Given the description of an element on the screen output the (x, y) to click on. 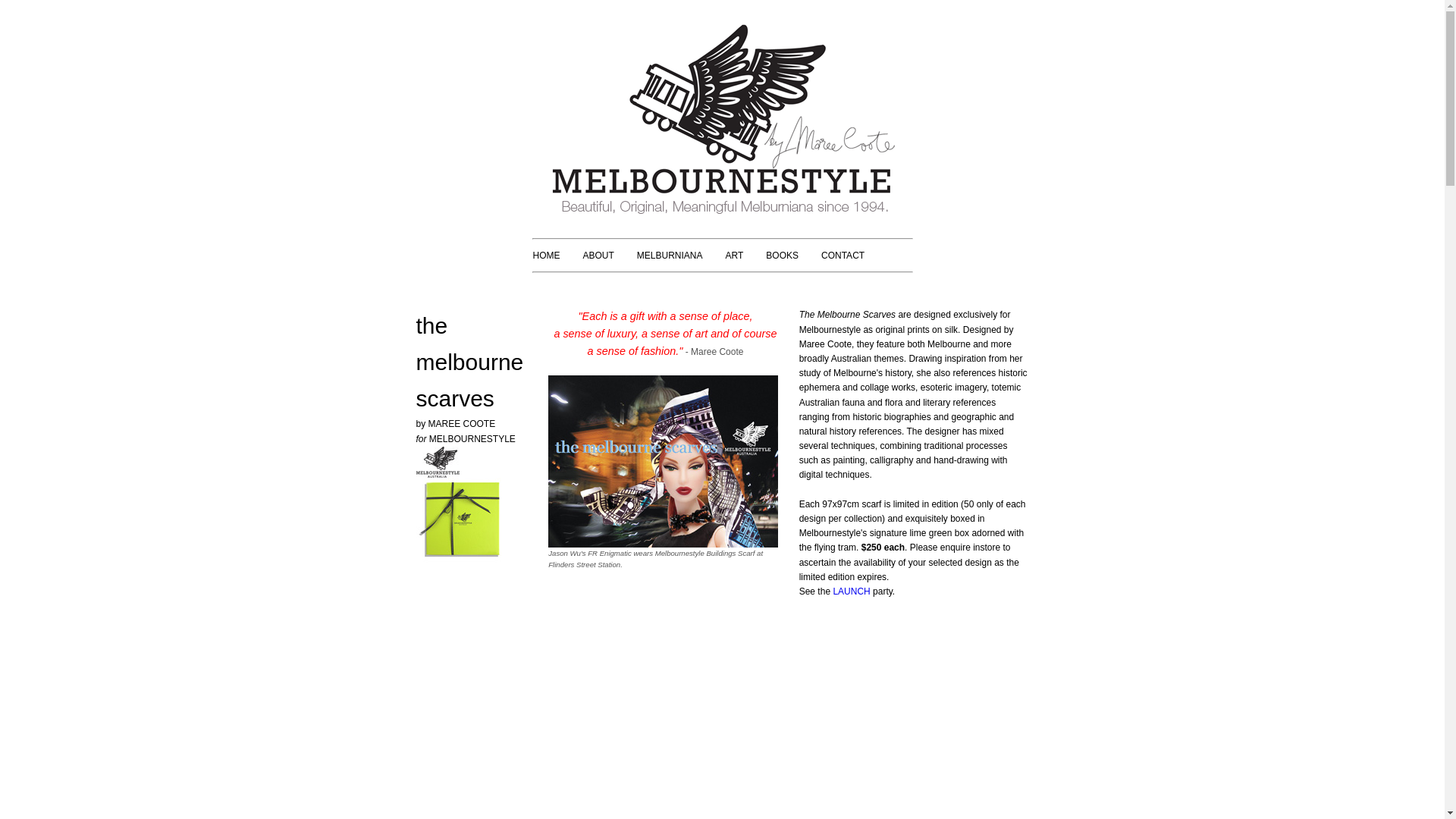
BOOKS Element type: text (781, 255)
ART Element type: text (734, 255)
ABOUT Element type: text (598, 255)
LAUNCH Element type: text (850, 591)
MELBURNIANA Element type: text (669, 255)
HOME Element type: text (546, 255)
CONTACT Element type: text (842, 255)
